Given the description of an element on the screen output the (x, y) to click on. 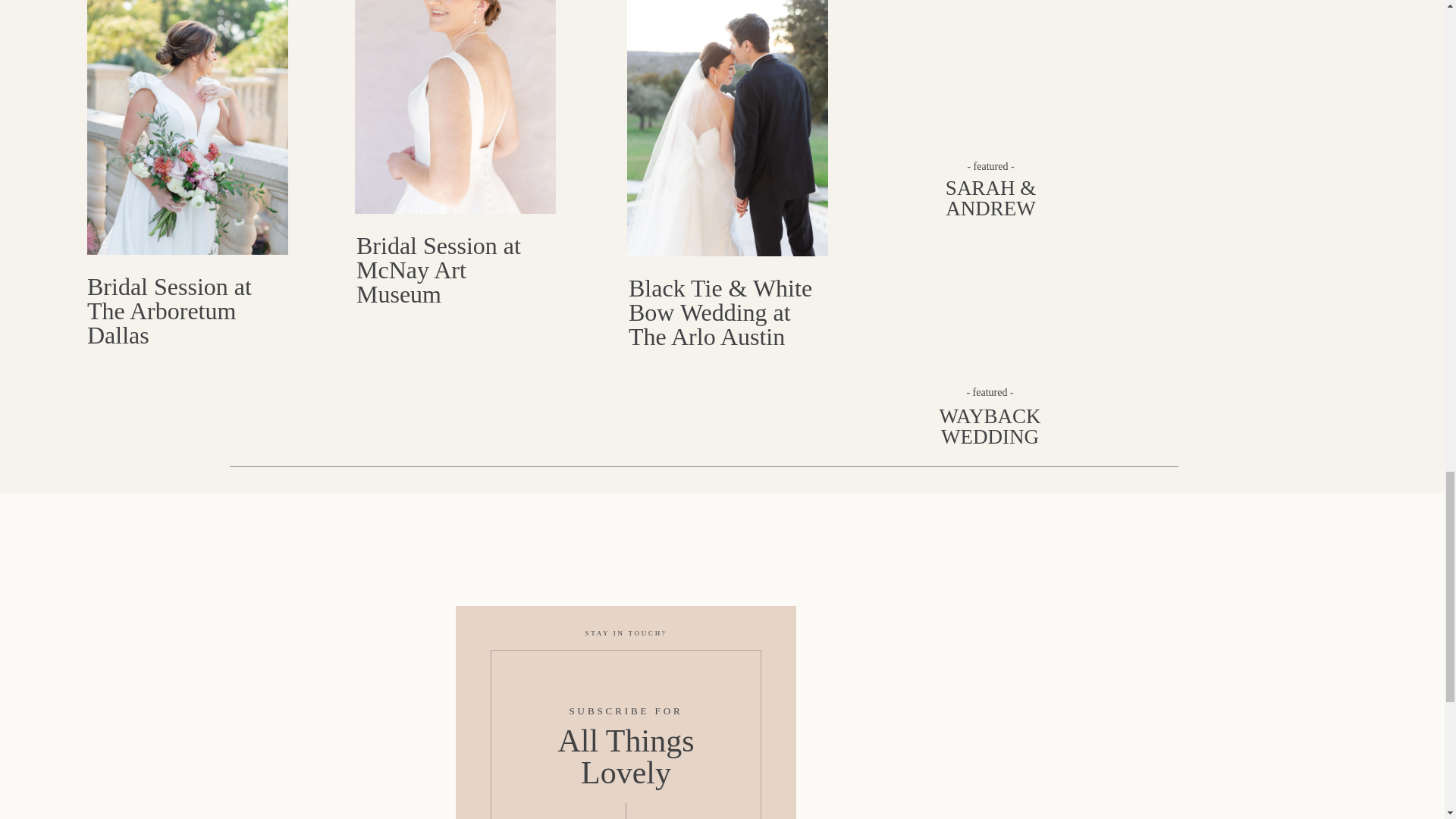
WAYBACK WEDDING (990, 427)
- featured - (989, 164)
Bridal Session at McNay Art Museum (455, 106)
here (598, 483)
this bridal session (495, 208)
Woodbine Mansion (717, 140)
- featured - (989, 390)
